Given the description of an element on the screen output the (x, y) to click on. 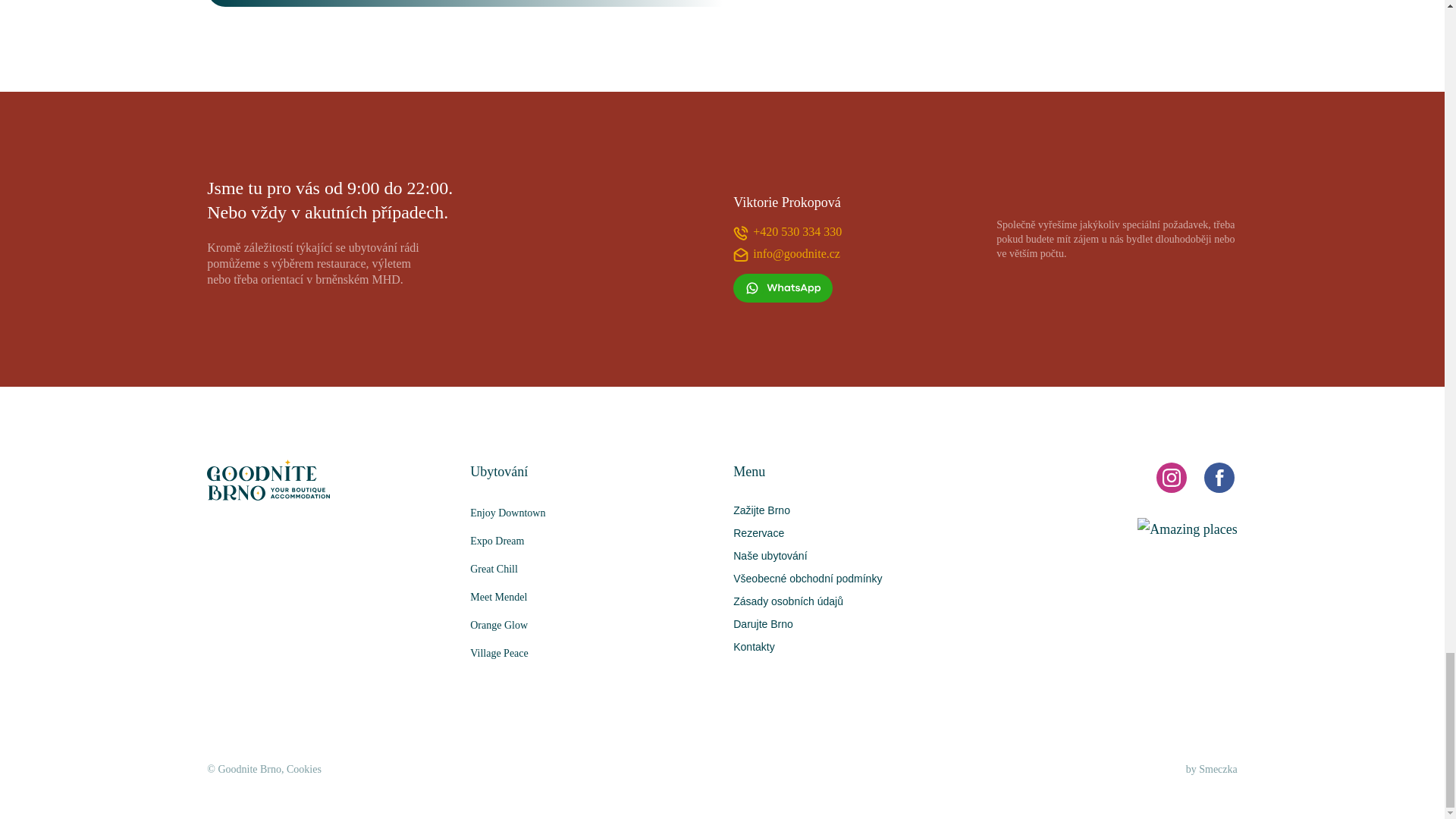
Kontakty (753, 646)
Enjoy Downtown (590, 512)
Village Peace (590, 653)
Orange Glow (590, 624)
Darujte Brno (763, 623)
Expo Dream (590, 541)
Rezervace (758, 532)
Meet Mendel (590, 596)
Great Chill (590, 569)
Darujte Brno (763, 623)
Cookies (303, 768)
Kontakty (753, 646)
Rezervace (758, 532)
by Smeczka (1211, 768)
